Given the description of an element on the screen output the (x, y) to click on. 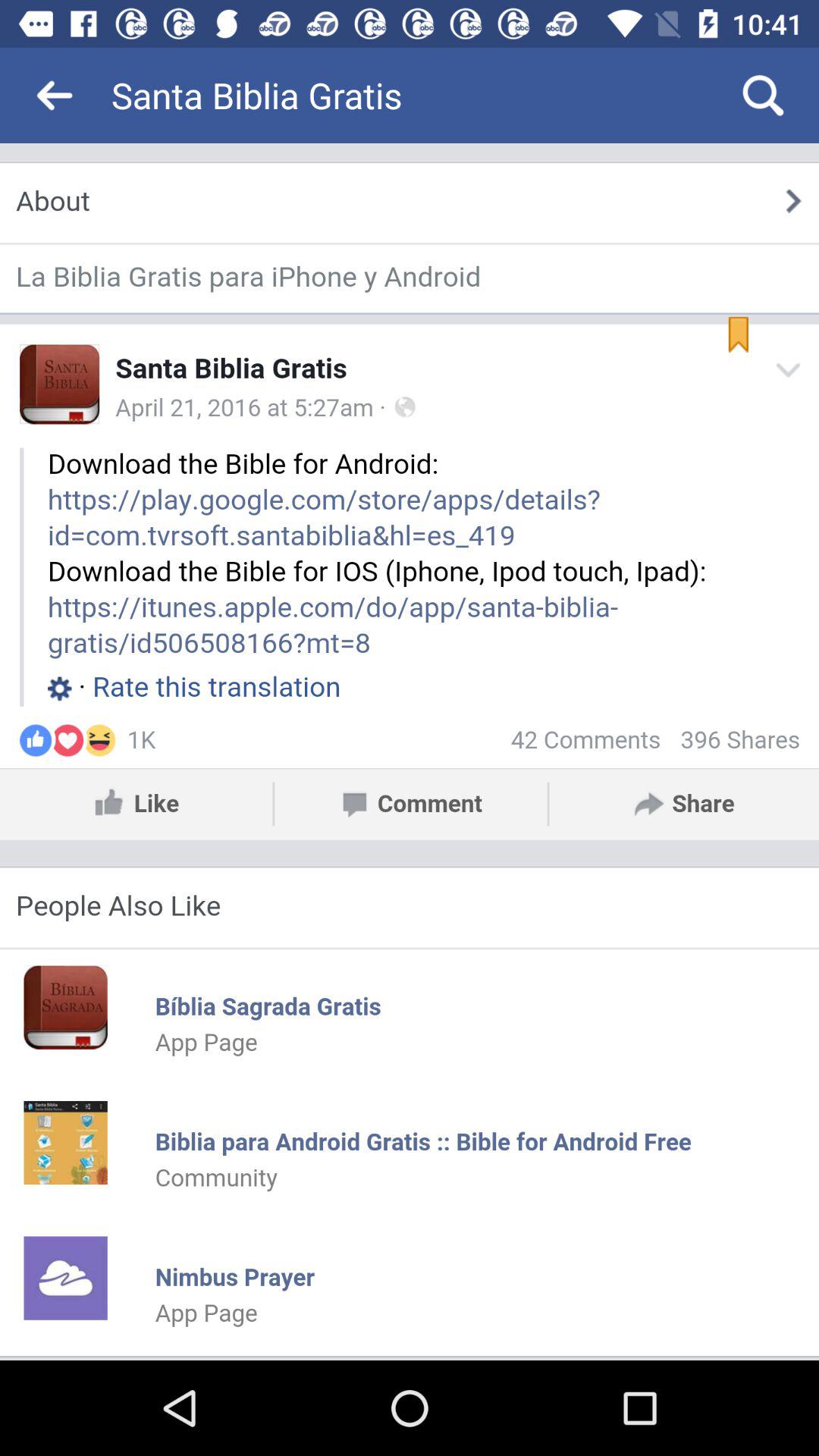
click the icon next to santa biblia gratis icon (763, 95)
